Given the description of an element on the screen output the (x, y) to click on. 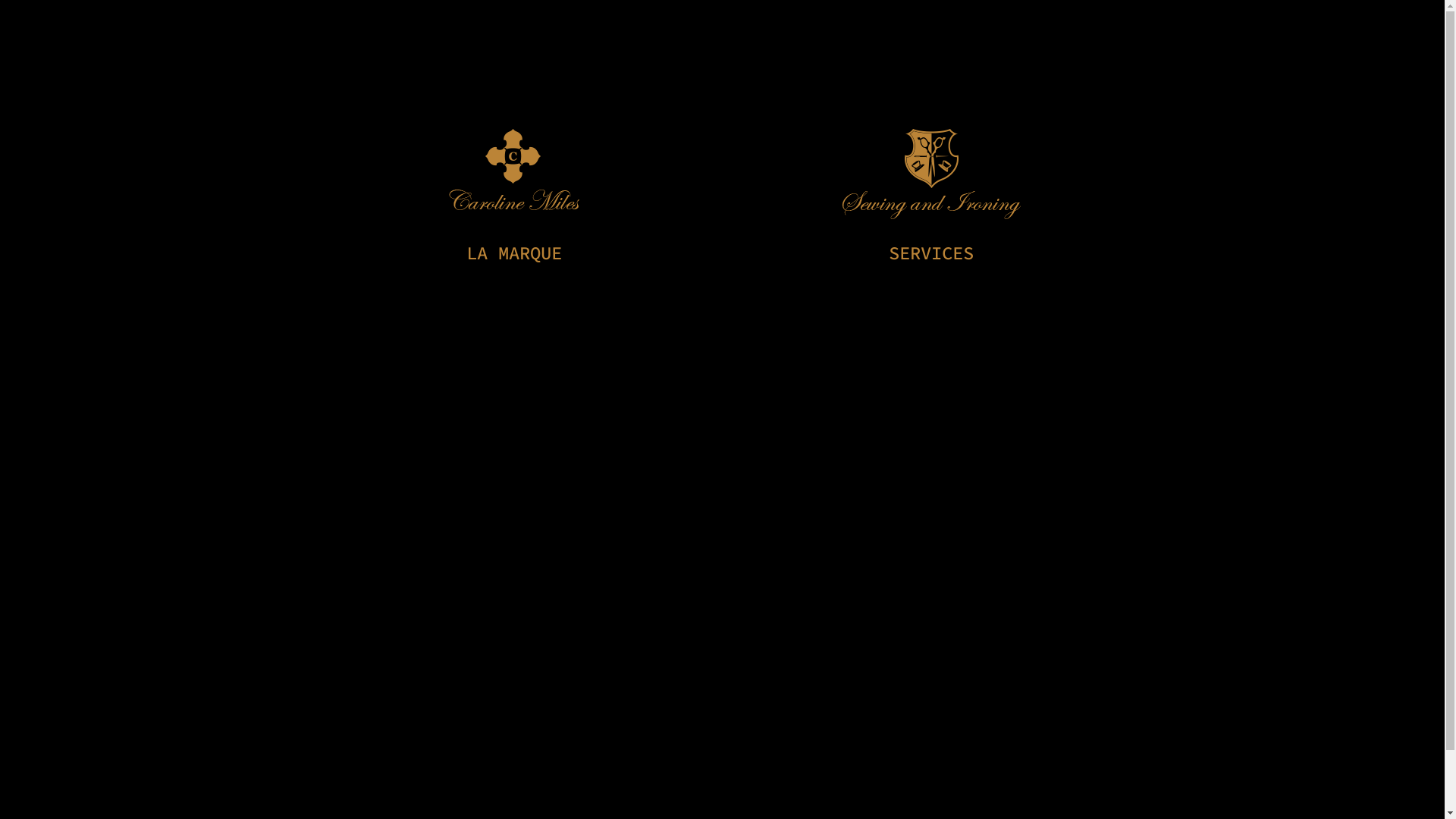
Caroline-Miles-Sewing Element type: hover (930, 173)
SERVICES Element type: text (930, 252)
Caroline-Miles-LogoMarque-Gold Element type: hover (513, 169)
LA MARQUE Element type: text (513, 252)
